Given the description of an element on the screen output the (x, y) to click on. 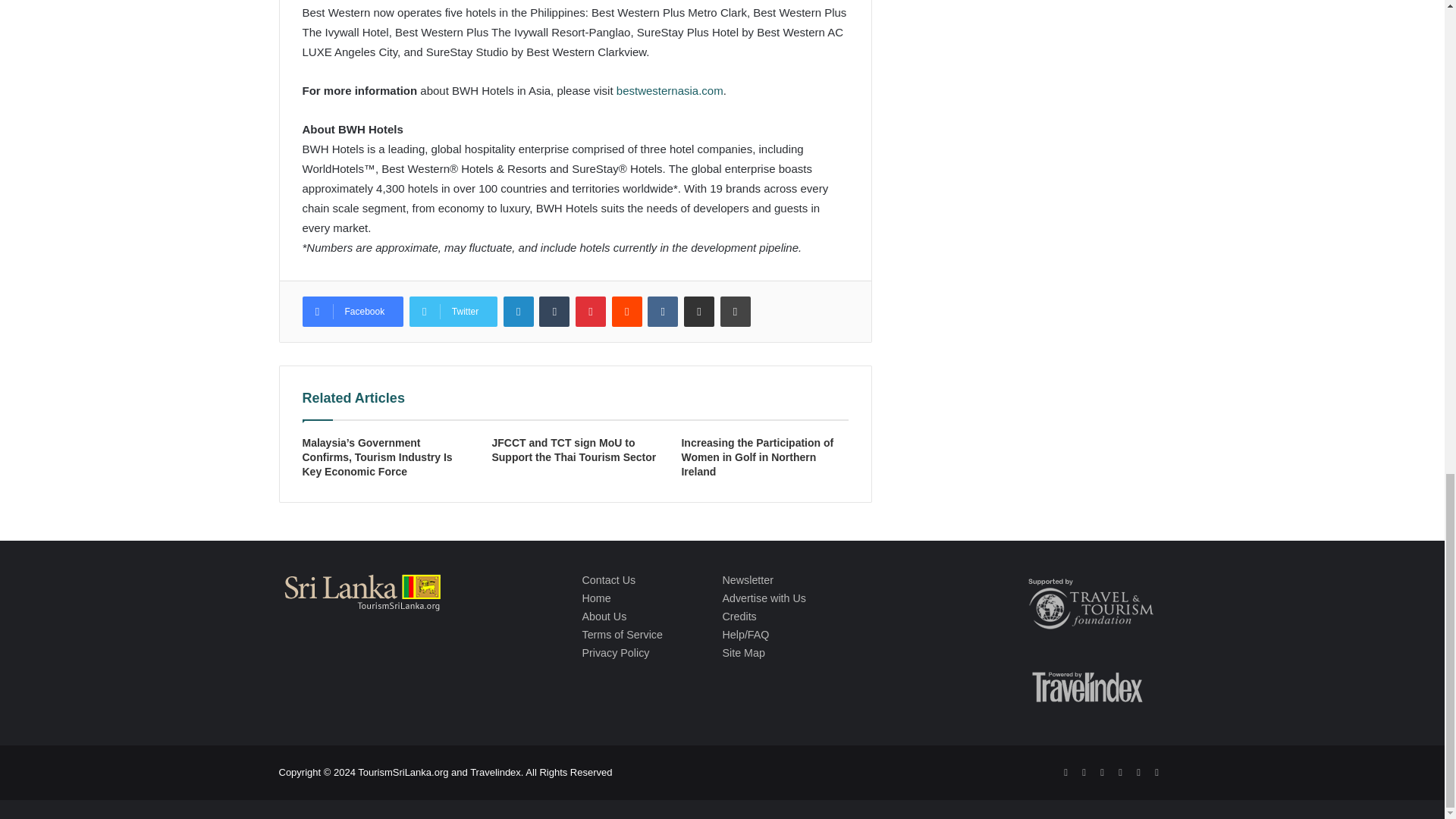
LinkedIn (518, 311)
Facebook (352, 311)
Reddit (626, 311)
Print (735, 311)
Twitter (453, 311)
Pinterest (590, 311)
Tumblr (553, 311)
Share via Email (699, 311)
VKontakte (662, 311)
